Given the description of an element on the screen output the (x, y) to click on. 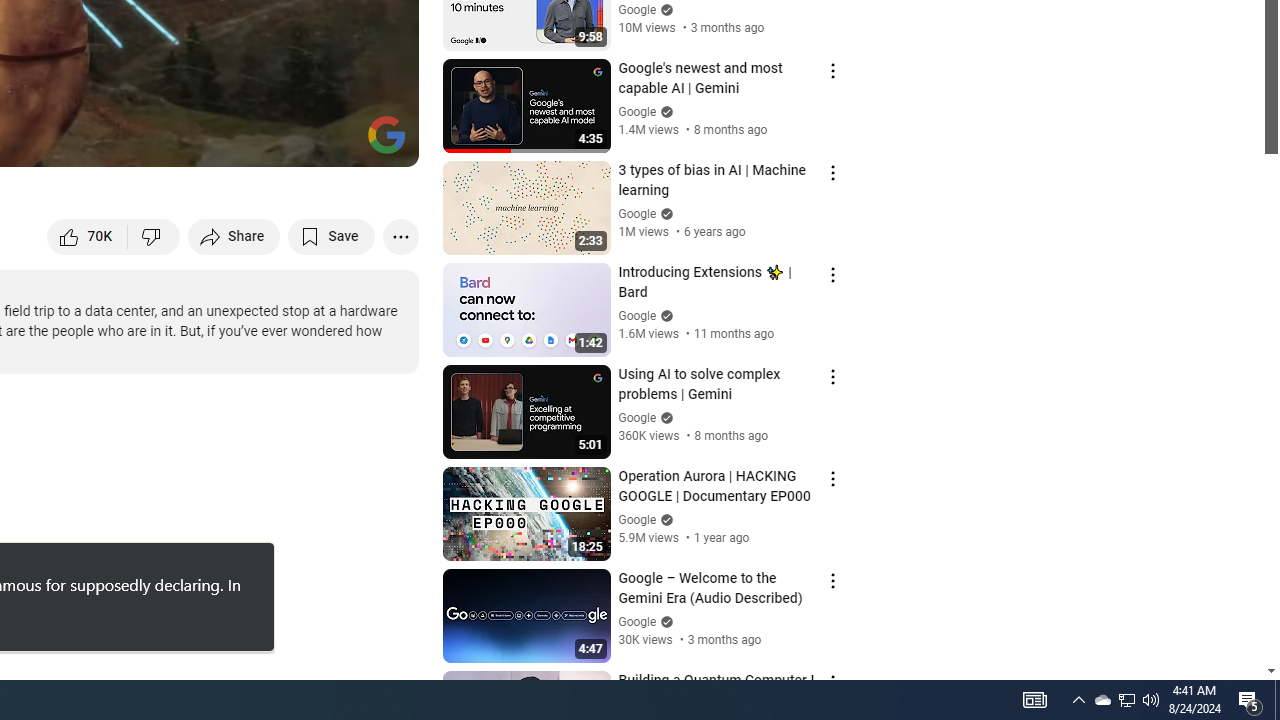
Subtitles/closed captions unavailable (190, 142)
More actions (399, 236)
Channel watermark (386, 134)
Save to playlist (331, 236)
